Given the description of an element on the screen output the (x, y) to click on. 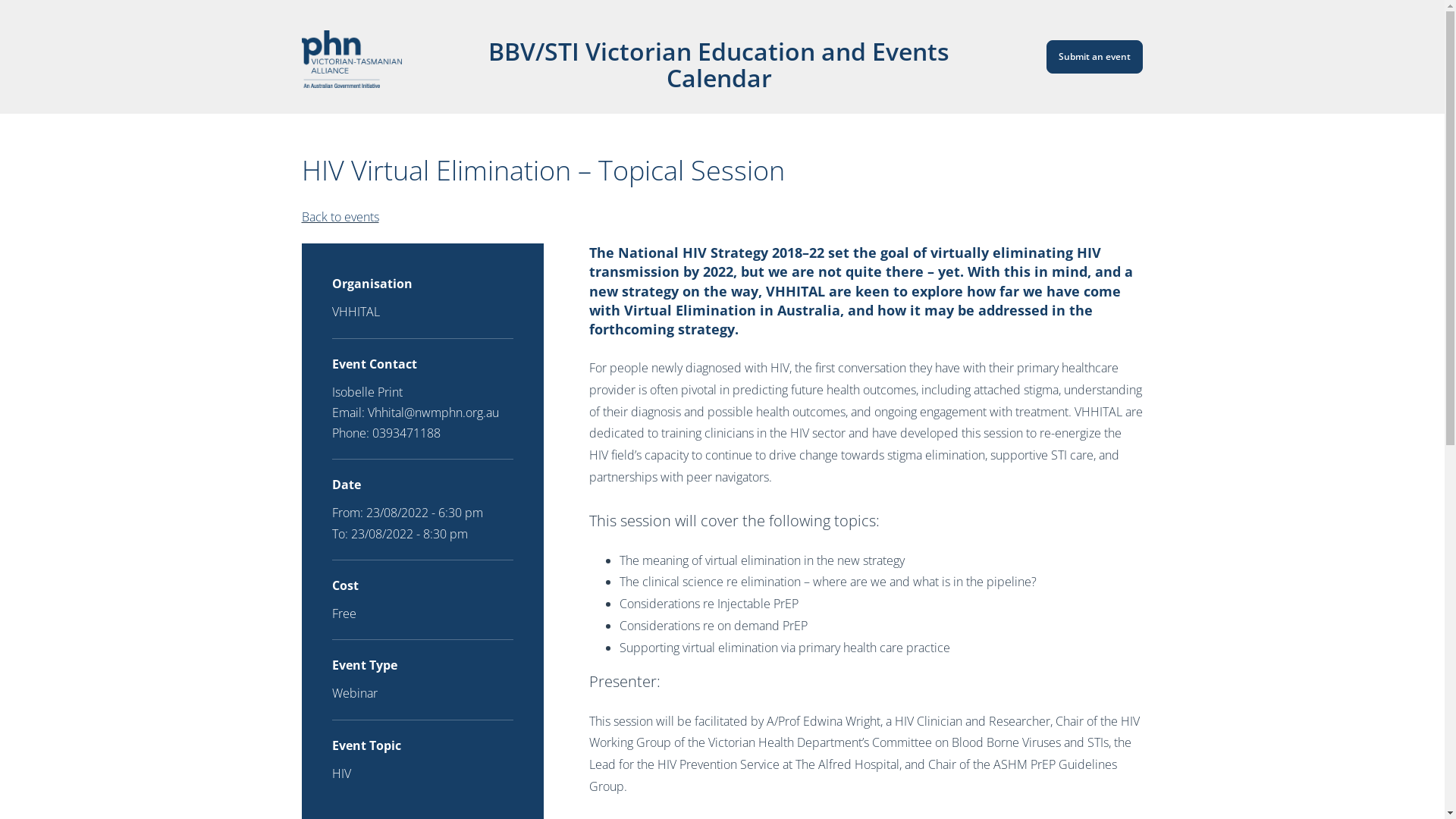
Submit an event Element type: text (1094, 56)
VTPHNA Element type: hover (351, 58)
Back to events Element type: text (340, 216)
BBV/STI Victorian Education and Events Calendar Element type: text (708, 56)
